Given the description of an element on the screen output the (x, y) to click on. 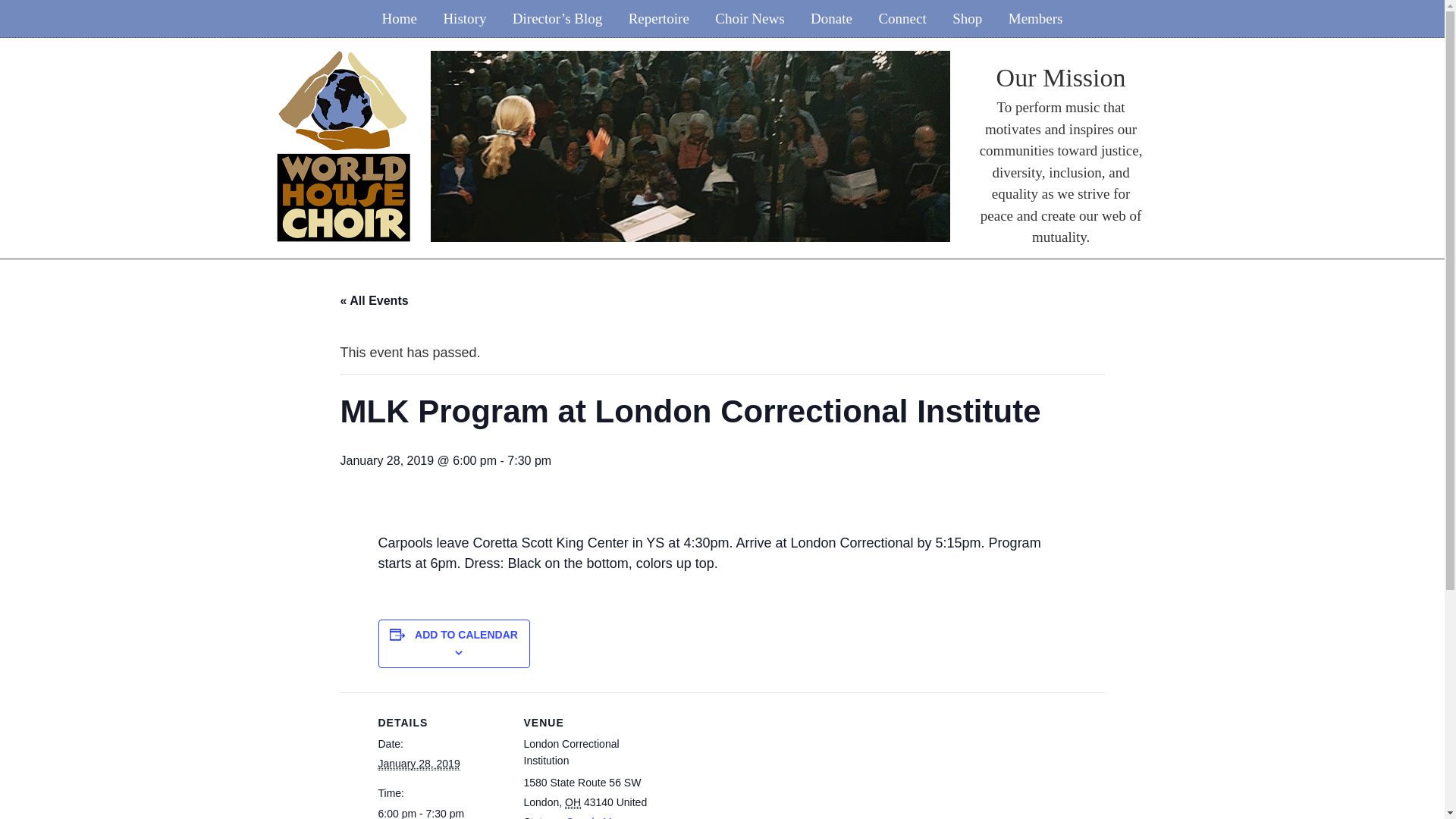
Connect (901, 18)
History (463, 18)
Choir News (748, 18)
2019-01-28 (441, 812)
Shop (966, 18)
Donate (831, 18)
Ohio (572, 802)
Home (398, 18)
World House Choir (342, 59)
Members (1035, 18)
Repertoire (658, 18)
Click to view a Google Map (589, 817)
2019-01-28 (418, 763)
ADD TO CALENDAR (466, 634)
